Given the description of an element on the screen output the (x, y) to click on. 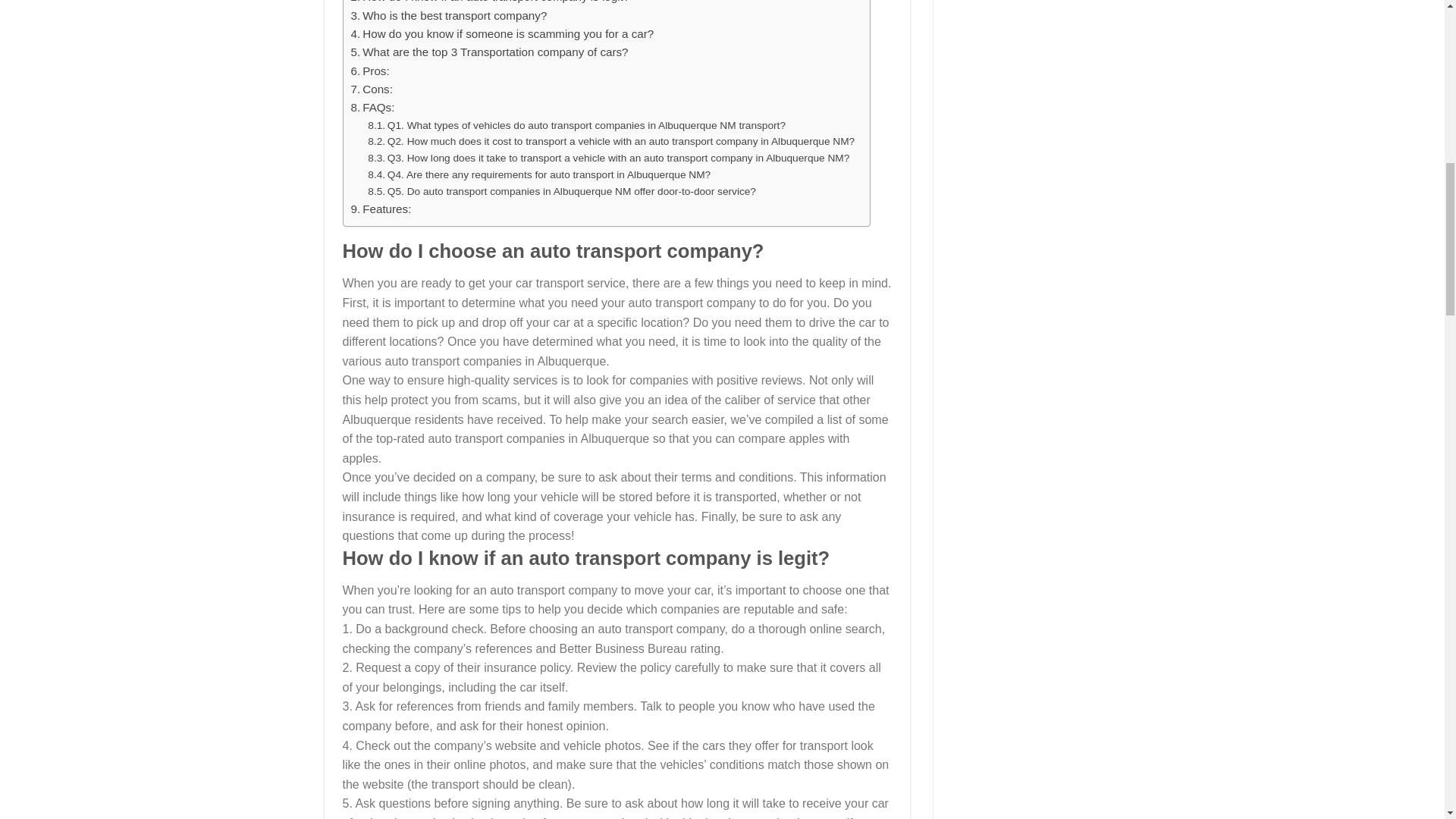
How do I know if an auto transport company is legit? (489, 2)
What are the top 3 Transportation company of cars? (488, 52)
How do you know if someone is scamming you for a car? (501, 34)
FAQs: (372, 107)
Cons: (370, 89)
How do I know if an auto transport company is legit? (489, 2)
Pros: (369, 71)
